Given the description of an element on the screen output the (x, y) to click on. 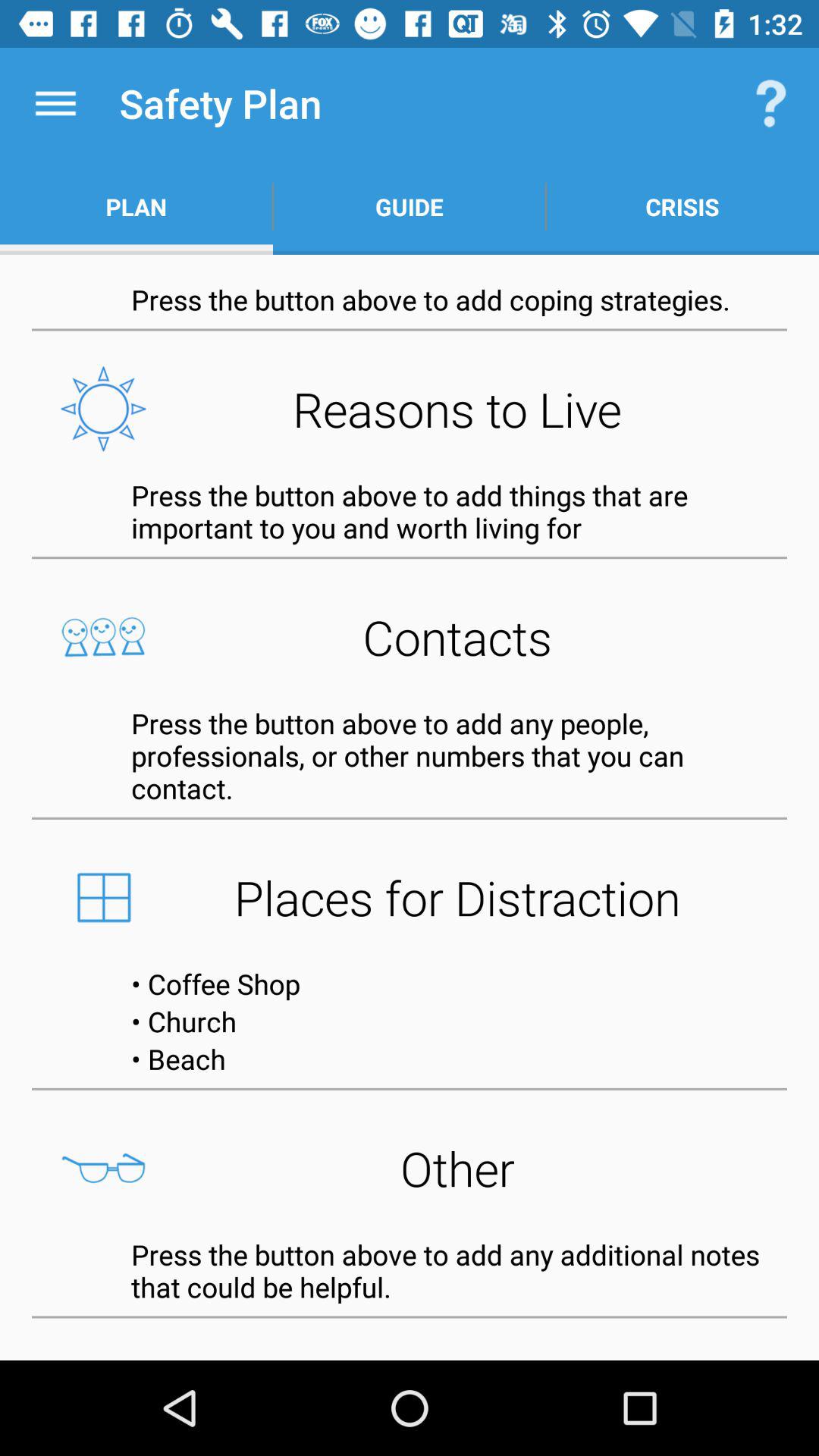
turn on the icon to the right of the guide item (771, 103)
